Given the description of an element on the screen output the (x, y) to click on. 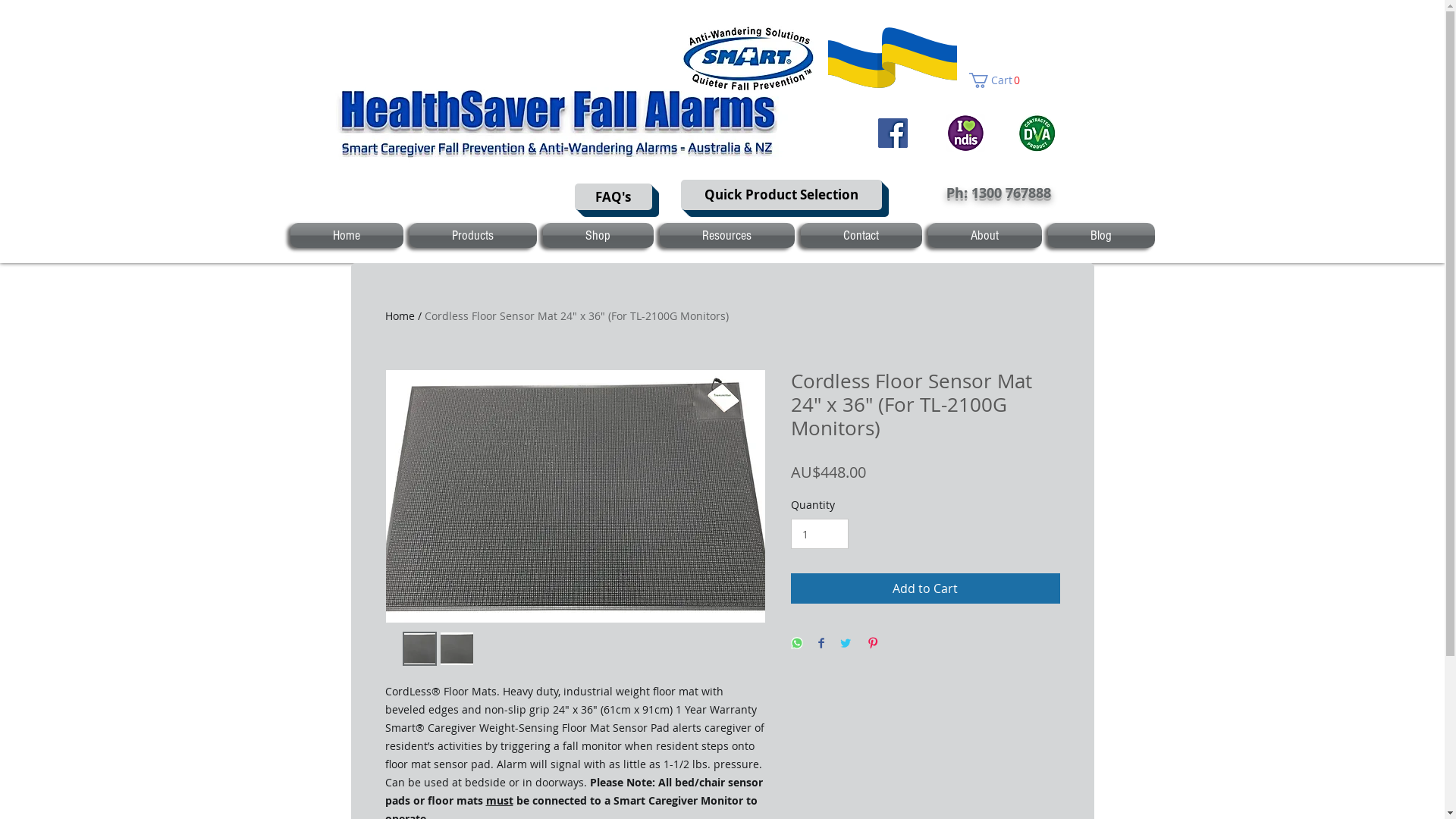
Quick Product Selection Element type: text (780, 194)
FAQ's Element type: text (613, 196)
Embedded Content Element type: hover (542, 103)
Shop Element type: text (597, 234)
Cordless Floor Sensor Mat 24" x 36" (For TL-2100G Monitors) Element type: text (576, 315)
Add to Cart Element type: text (924, 588)
Ph: 1300 767888 Element type: text (998, 192)
Contact Element type: text (861, 234)
Home Element type: text (347, 234)
Resources Element type: text (726, 234)
About Element type: text (984, 234)
Blog Element type: text (1099, 234)
Cart
0 Element type: text (997, 79)
Site Search Element type: hover (407, 201)
Home Element type: text (399, 315)
